Given the description of an element on the screen output the (x, y) to click on. 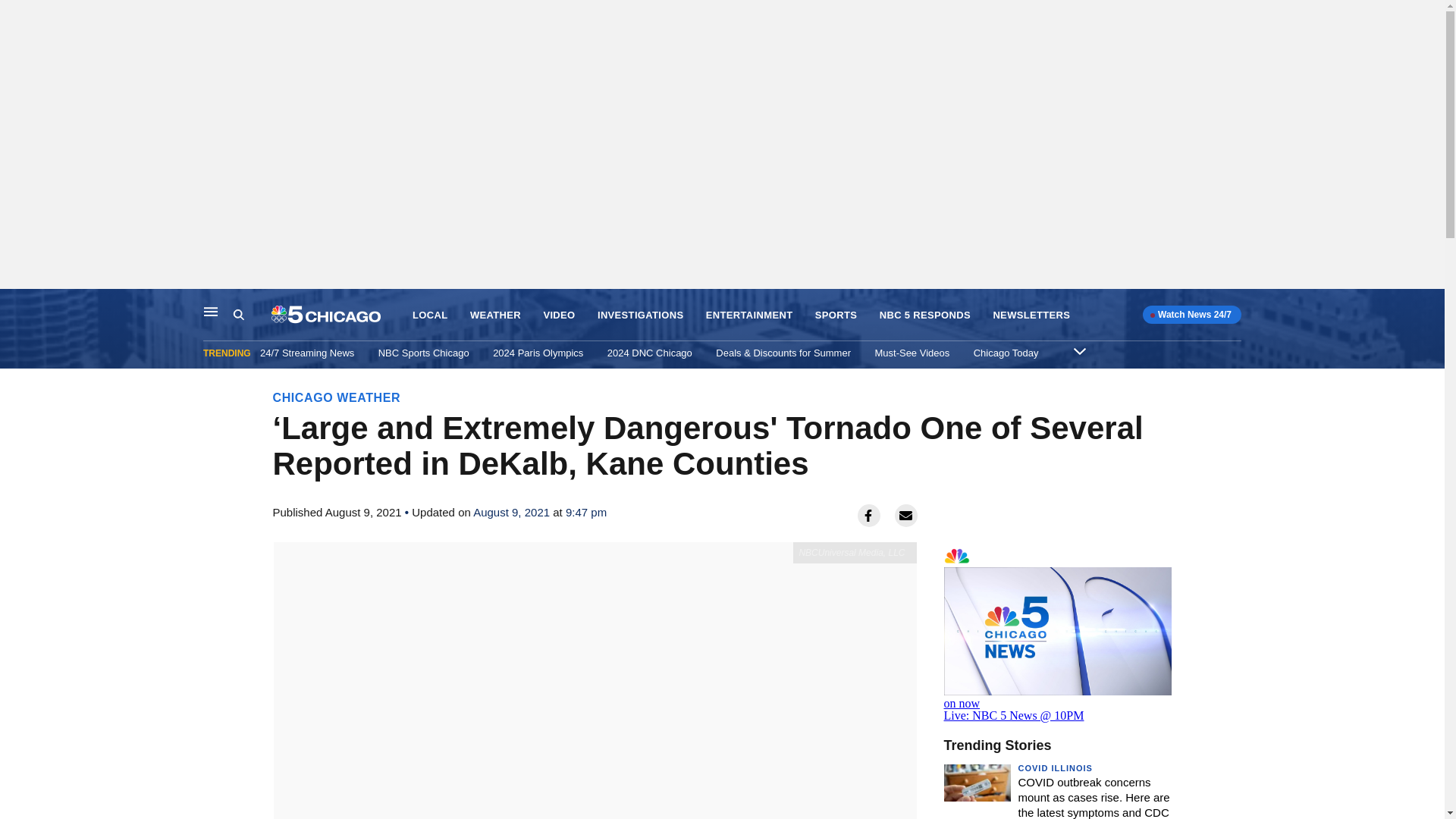
CHICAGO WEATHER (337, 397)
Skip to content (16, 304)
Chicago Today (1006, 352)
Search (238, 314)
VIDEO (559, 315)
NEWSLETTERS (1031, 315)
WEATHER (495, 315)
Expand (1080, 350)
LOCAL (429, 315)
NBC Sports Chicago (423, 352)
INVESTIGATIONS (639, 315)
2024 DNC Chicago (650, 352)
Main Navigation (210, 311)
SPORTS (836, 315)
2024 Paris Olympics (538, 352)
